Given the description of an element on the screen output the (x, y) to click on. 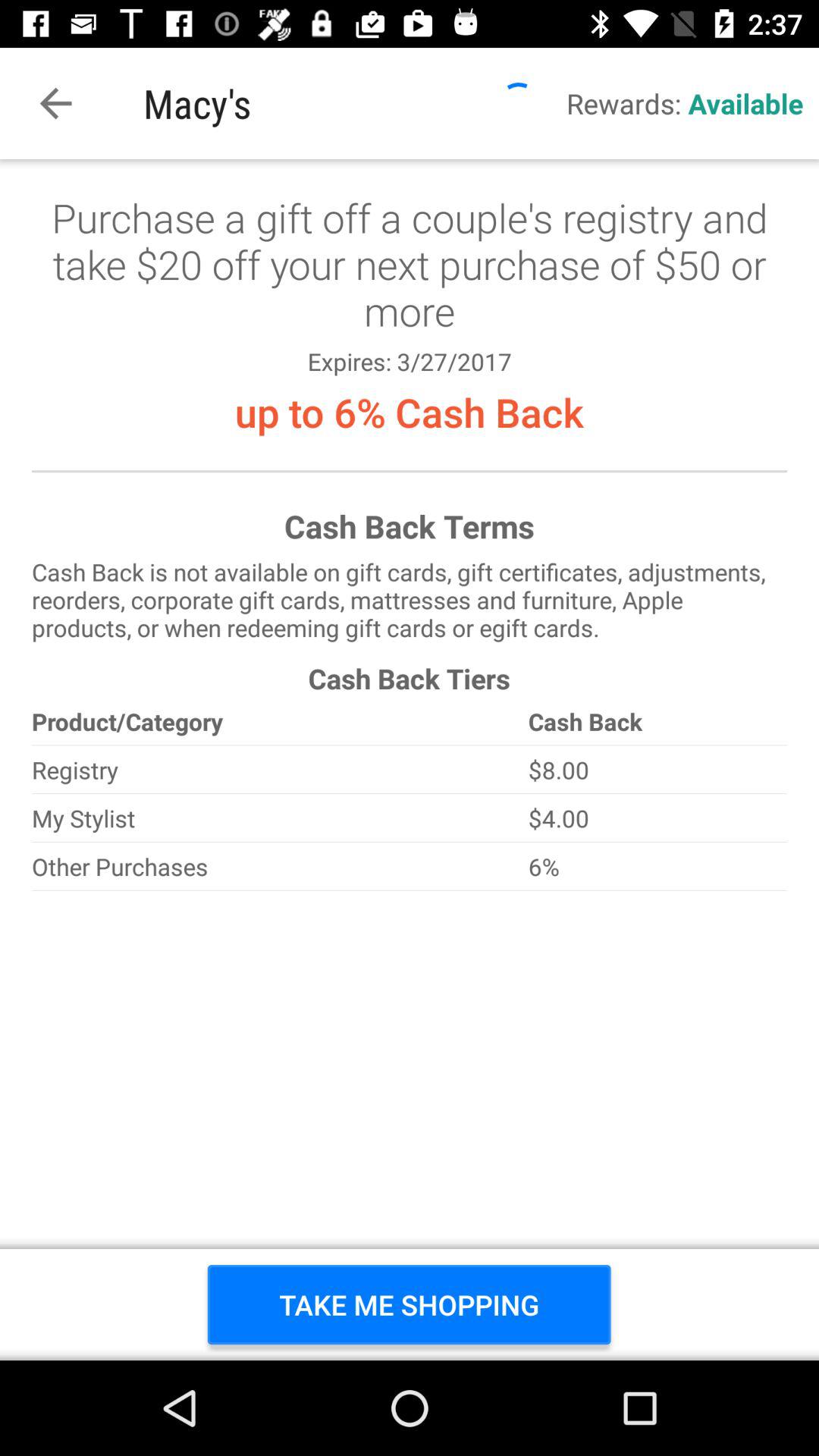
press the app next to the macy's icon (55, 103)
